Given the description of an element on the screen output the (x, y) to click on. 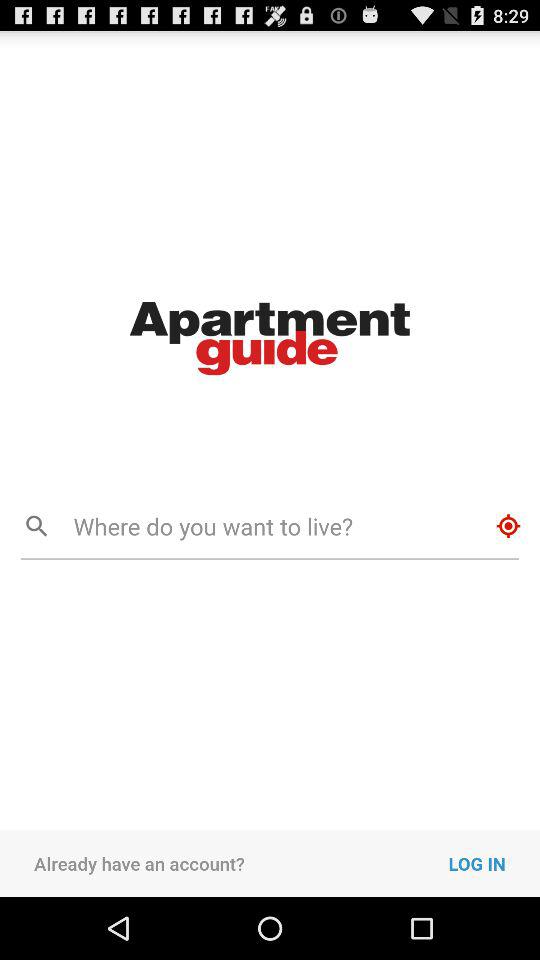
select your position through gps (508, 525)
